Given the description of an element on the screen output the (x, y) to click on. 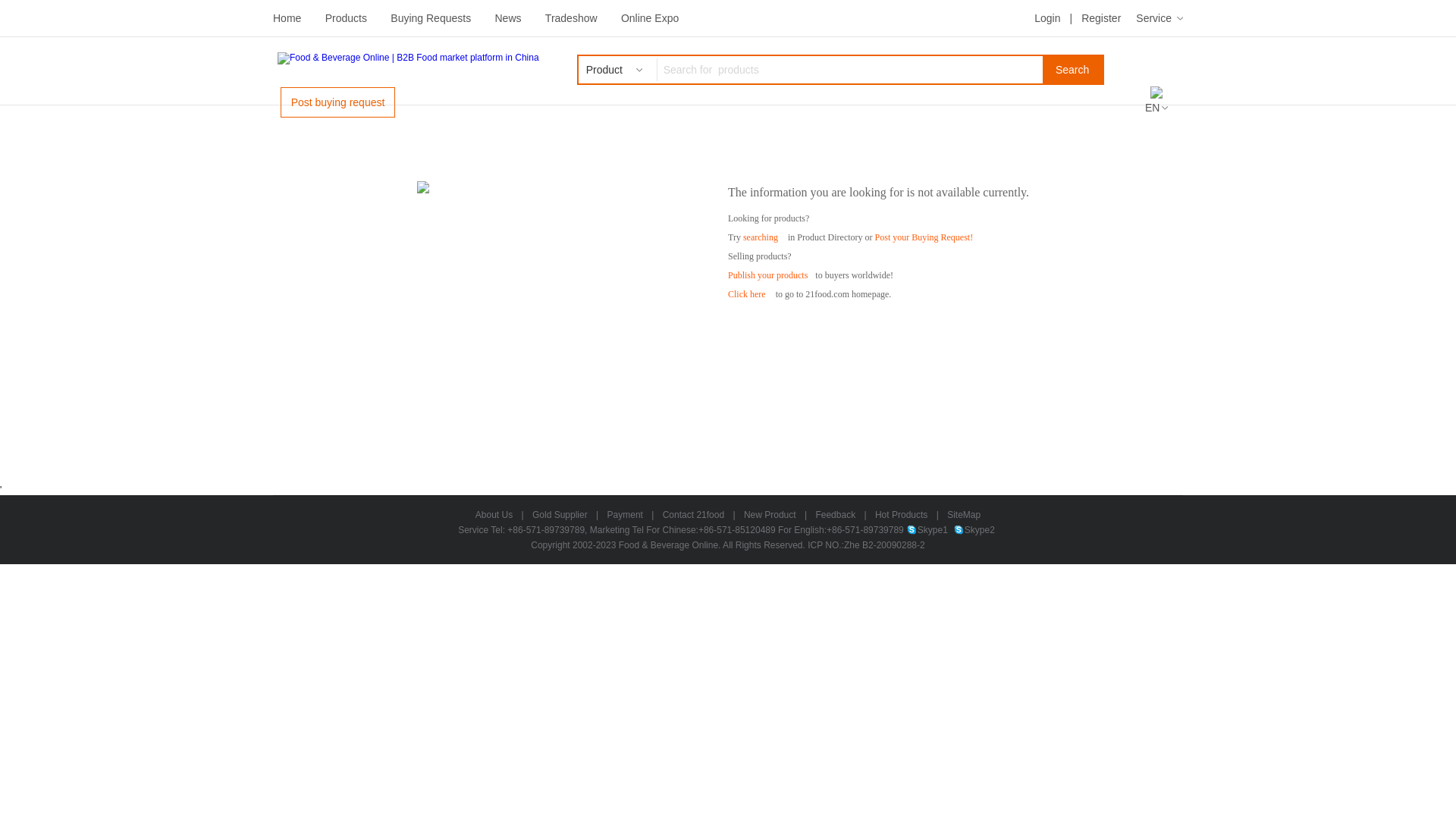
About Us Element type: text (493, 514)
Post your Buying Request! Element type: text (924, 237)
Post buying request Element type: text (337, 102)
Buying Requests Element type: text (430, 18)
searching Element type: text (760, 237)
Search Element type: text (1072, 69)
Skype1 Element type: text (926, 529)
News Element type: text (507, 18)
Skype2 Element type: text (973, 529)
Contact 21food Element type: text (693, 514)
Register Element type: text (1100, 18)
Publish your products Element type: text (767, 274)
Feedback Element type: text (835, 514)
Tradeshow Element type: text (571, 18)
SiteMap Element type: text (963, 514)
Payment Element type: text (625, 514)
New Product Element type: text (769, 514)
Service Element type: text (1159, 18)
Home Element type: text (287, 18)
Click here Element type: text (746, 293)
Gold Supplier Element type: text (559, 514)
Online Expo Element type: text (649, 18)
EN Element type: text (1156, 107)
Hot Products Element type: text (901, 514)
Products Element type: text (346, 18)
Login Element type: text (1047, 18)
